Given the description of an element on the screen output the (x, y) to click on. 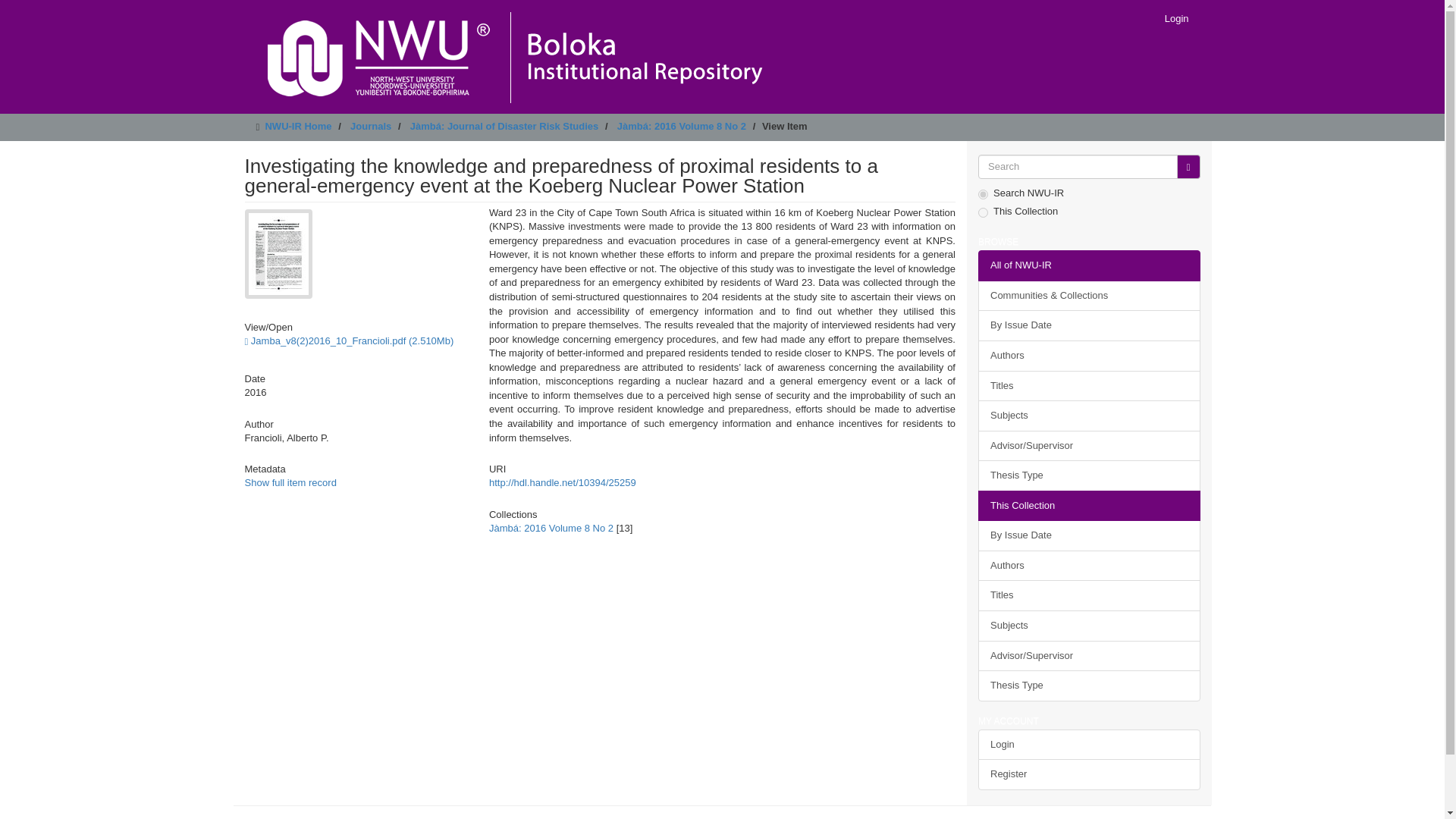
Journals (370, 125)
Go (1187, 166)
Thesis Type (1088, 475)
Authors (1088, 565)
Subjects (1088, 625)
Thesis Type (1088, 685)
Titles (1088, 594)
Authors (1088, 355)
Subjects (1088, 415)
Login (1176, 18)
